Given the description of an element on the screen output the (x, y) to click on. 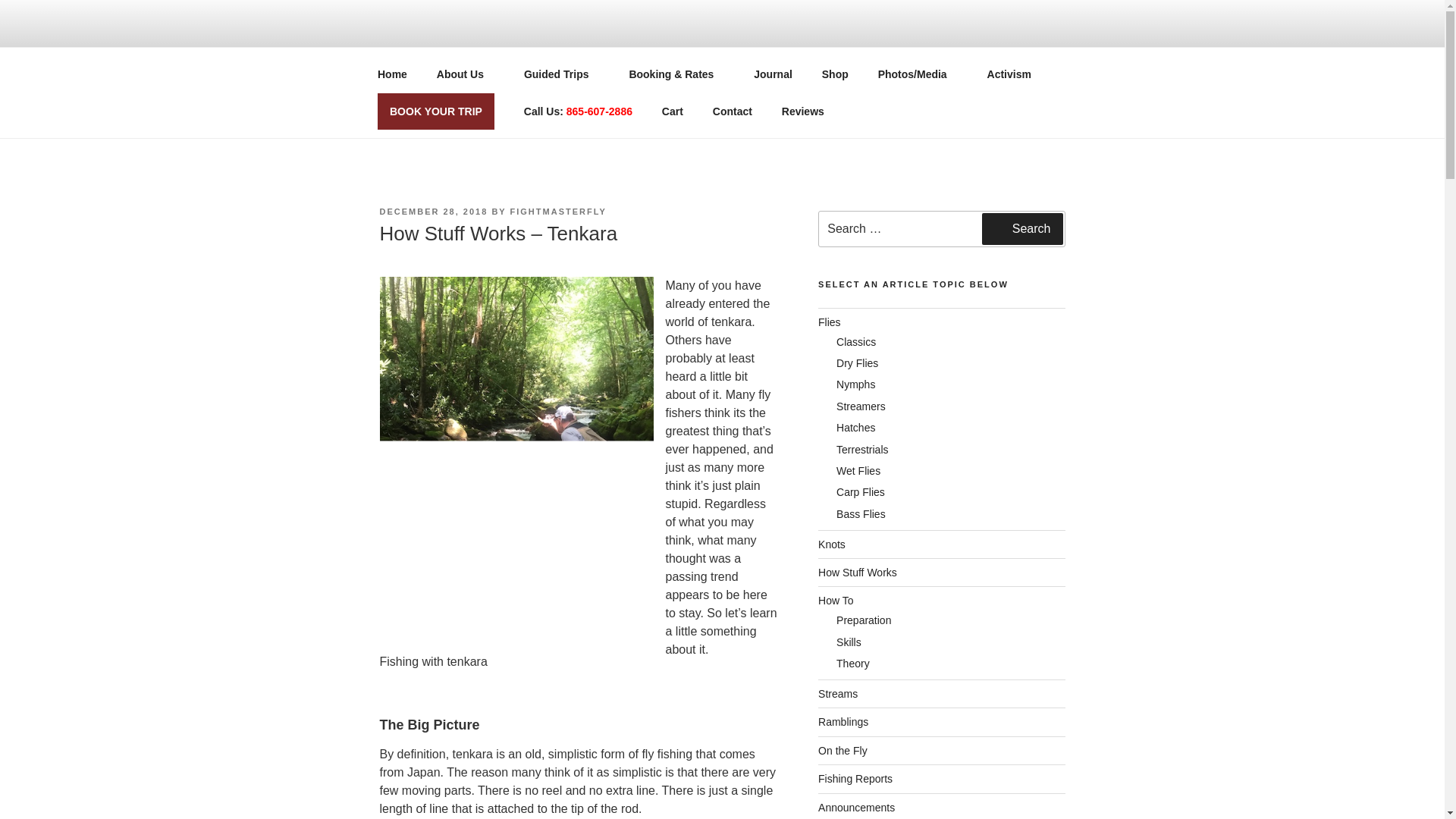
Call Us: 865-607-2886 (578, 110)
Shop (834, 74)
Activism (1008, 74)
Journal (773, 74)
Contact (731, 110)
Reviews (807, 110)
Guided Trips (561, 74)
About Us (464, 74)
Home (392, 74)
Cart (671, 110)
